Given the description of an element on the screen output the (x, y) to click on. 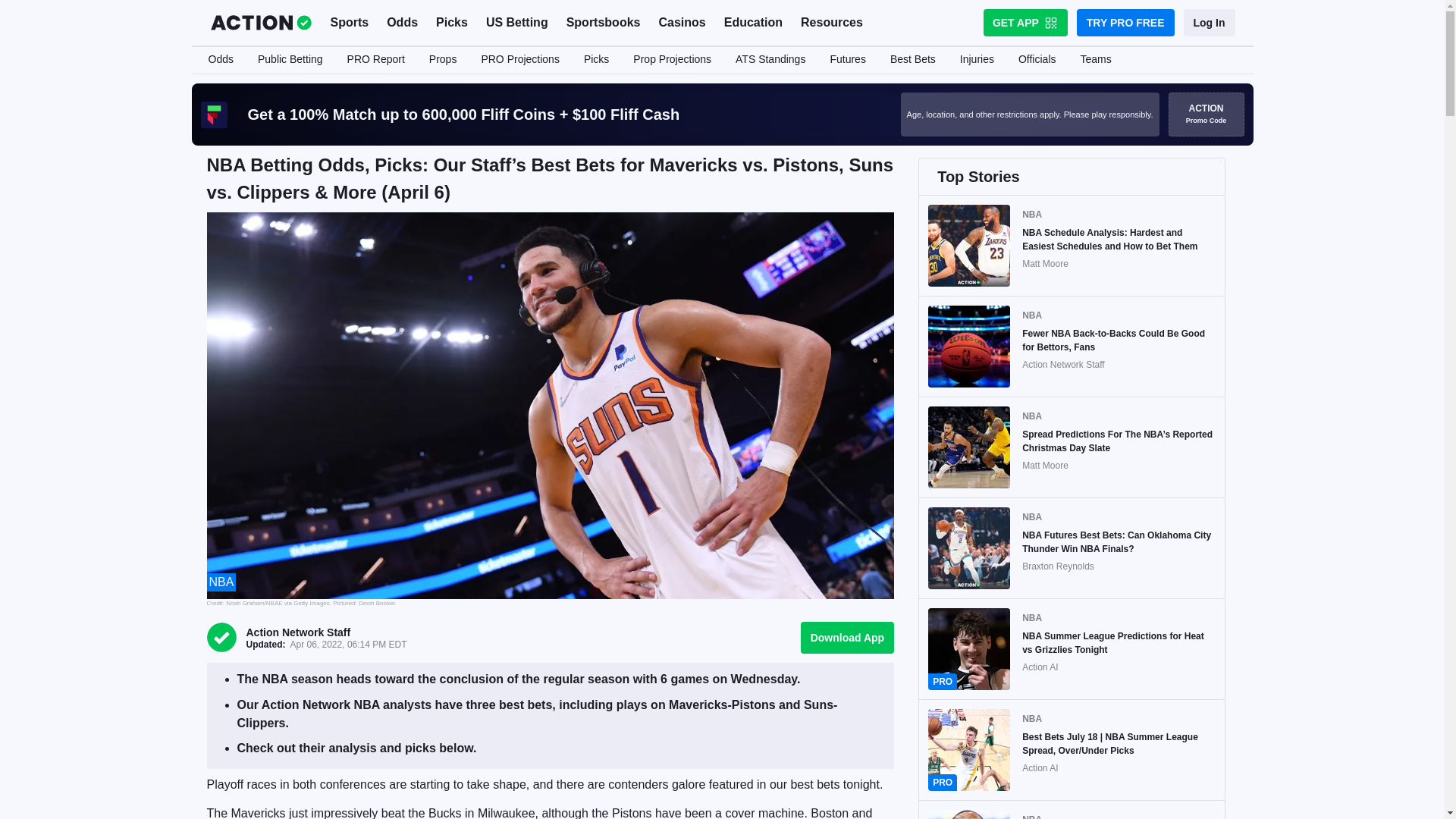
NBA (221, 581)
Log In (1208, 22)
Officials (1037, 59)
TRY PRO FREE (1125, 22)
Casinos (681, 23)
Sportsbooks (603, 23)
Prop Projections (672, 59)
Teams (1094, 59)
ATS Standings (769, 59)
Best Bets (912, 59)
